Given the description of an element on the screen output the (x, y) to click on. 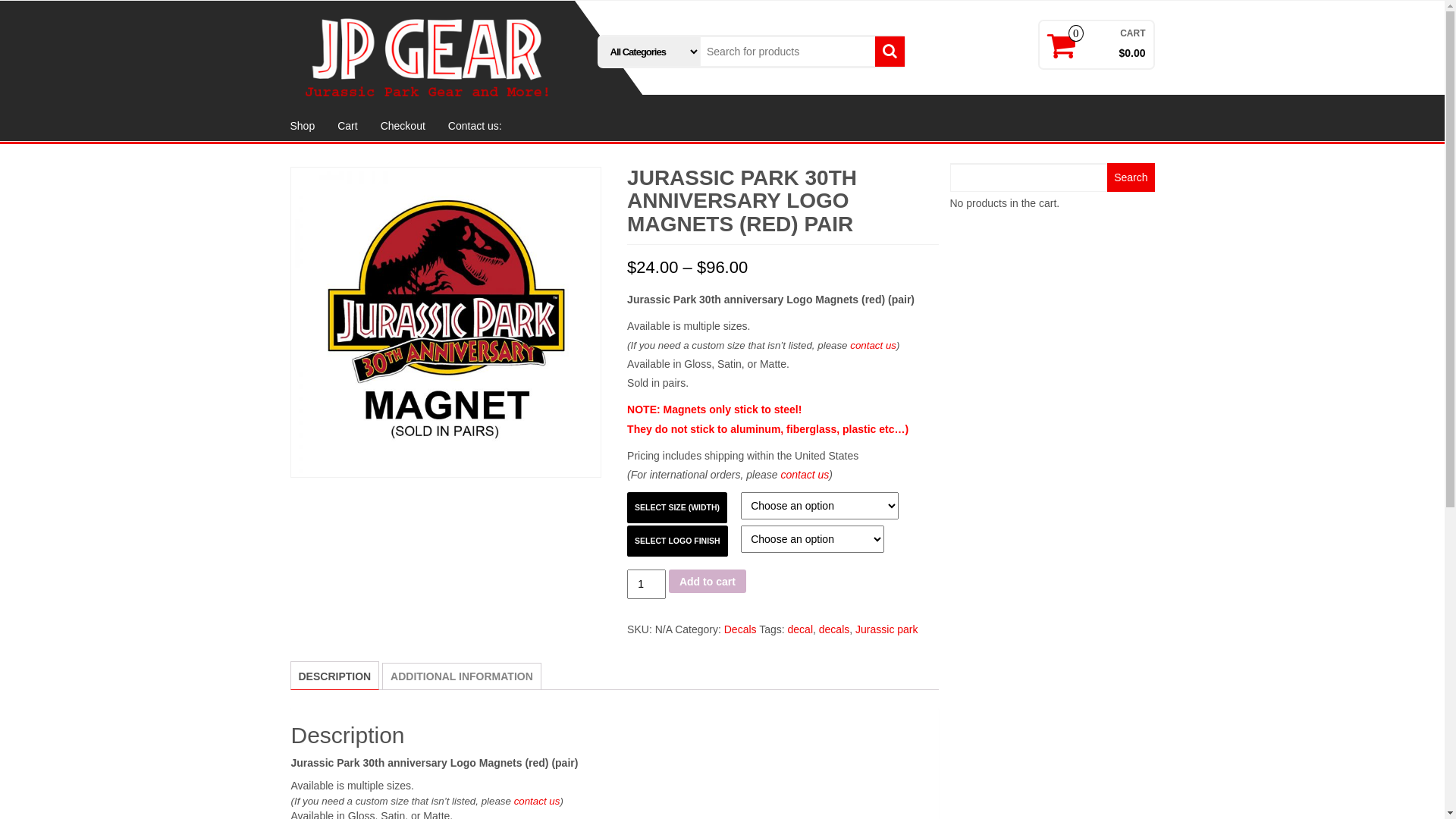
Contact us: Element type: text (474, 125)
Jurassic park Element type: text (886, 629)
contact us Element type: text (873, 345)
ADDITIONAL INFORMATION Element type: text (461, 676)
JPmagnet30th Element type: hover (444, 321)
Cart Element type: text (347, 125)
Qty Element type: hover (646, 584)
Shop Element type: text (302, 125)
Search Element type: text (1130, 177)
contact us Element type: text (804, 474)
Checkout Element type: text (402, 125)
DESCRIPTION Element type: text (334, 676)
decal Element type: text (799, 629)
decals Element type: text (834, 629)
Add to cart Element type: text (707, 581)
contact us Element type: text (537, 800)
Decals Element type: text (740, 629)
